Given the description of an element on the screen output the (x, y) to click on. 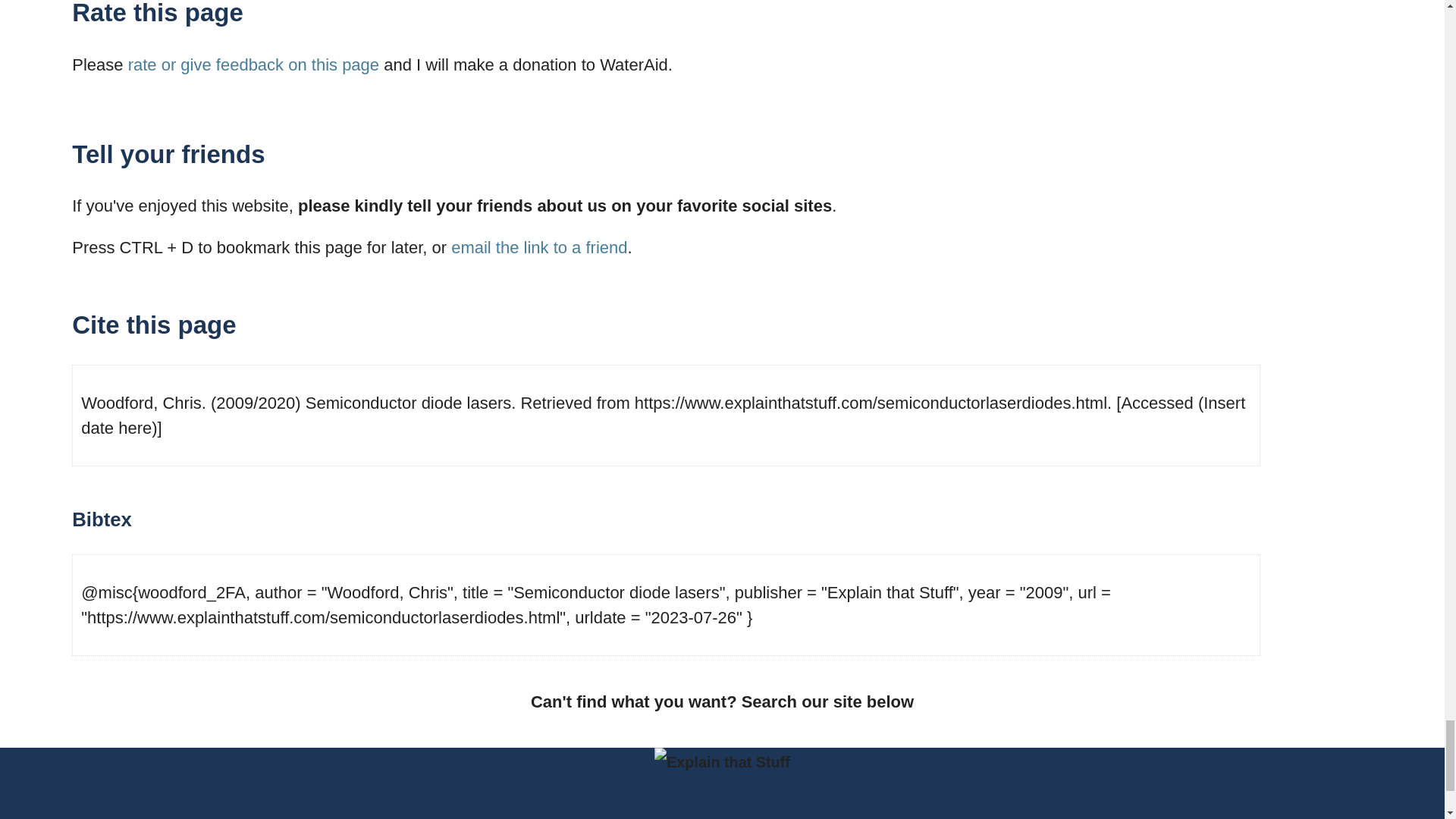
Email this page to a friend (539, 247)
